Given the description of an element on the screen output the (x, y) to click on. 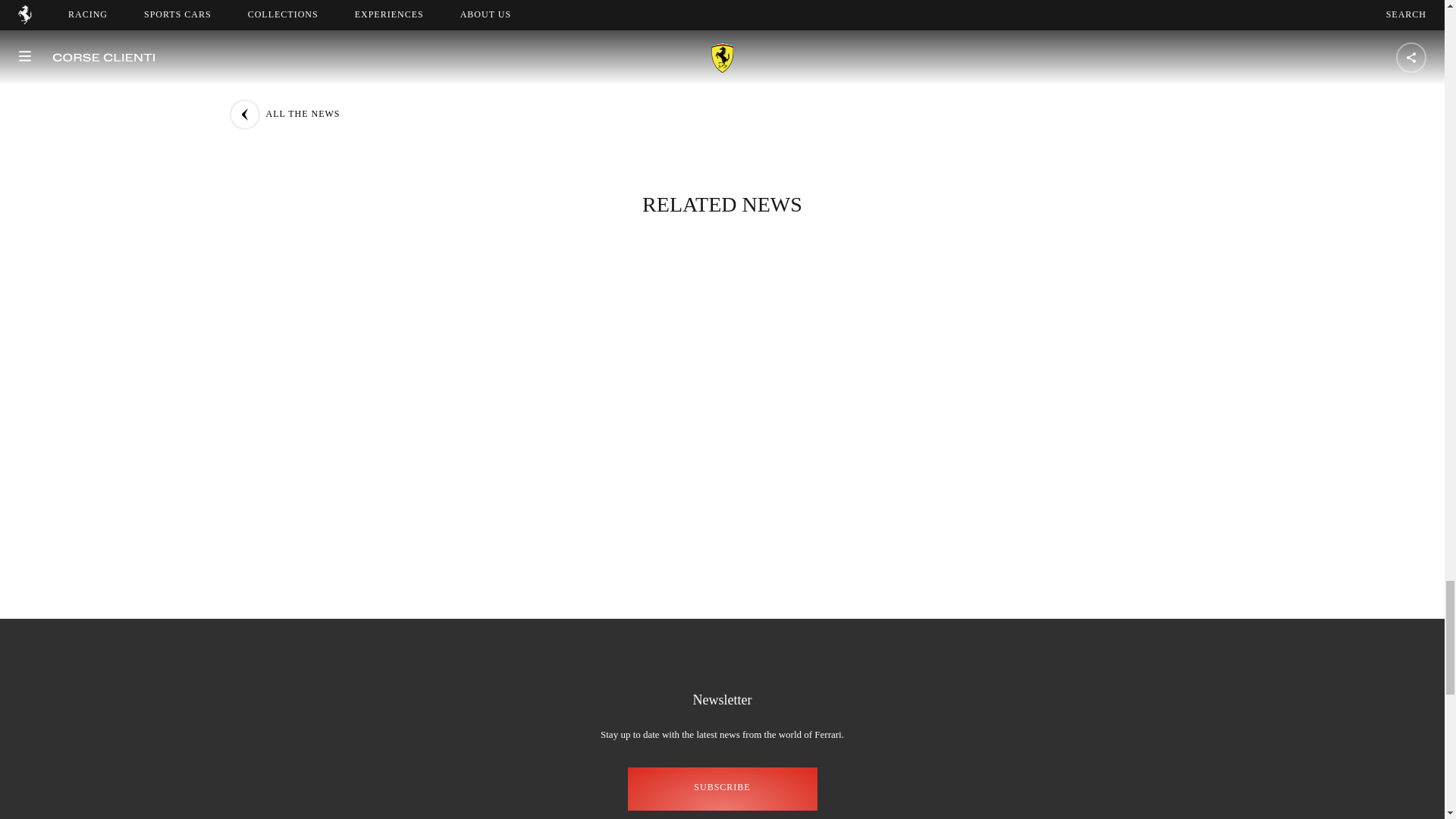
MANNY FRANCO (617, 64)
SONOMA (502, 64)
SEASON 2023 (740, 64)
SUBSCRIBE (721, 788)
GREY FAUVRE (859, 64)
BRUCE CLEVELAND (529, 96)
JUSTIN ROTHBERG (992, 64)
